Given the description of an element on the screen output the (x, y) to click on. 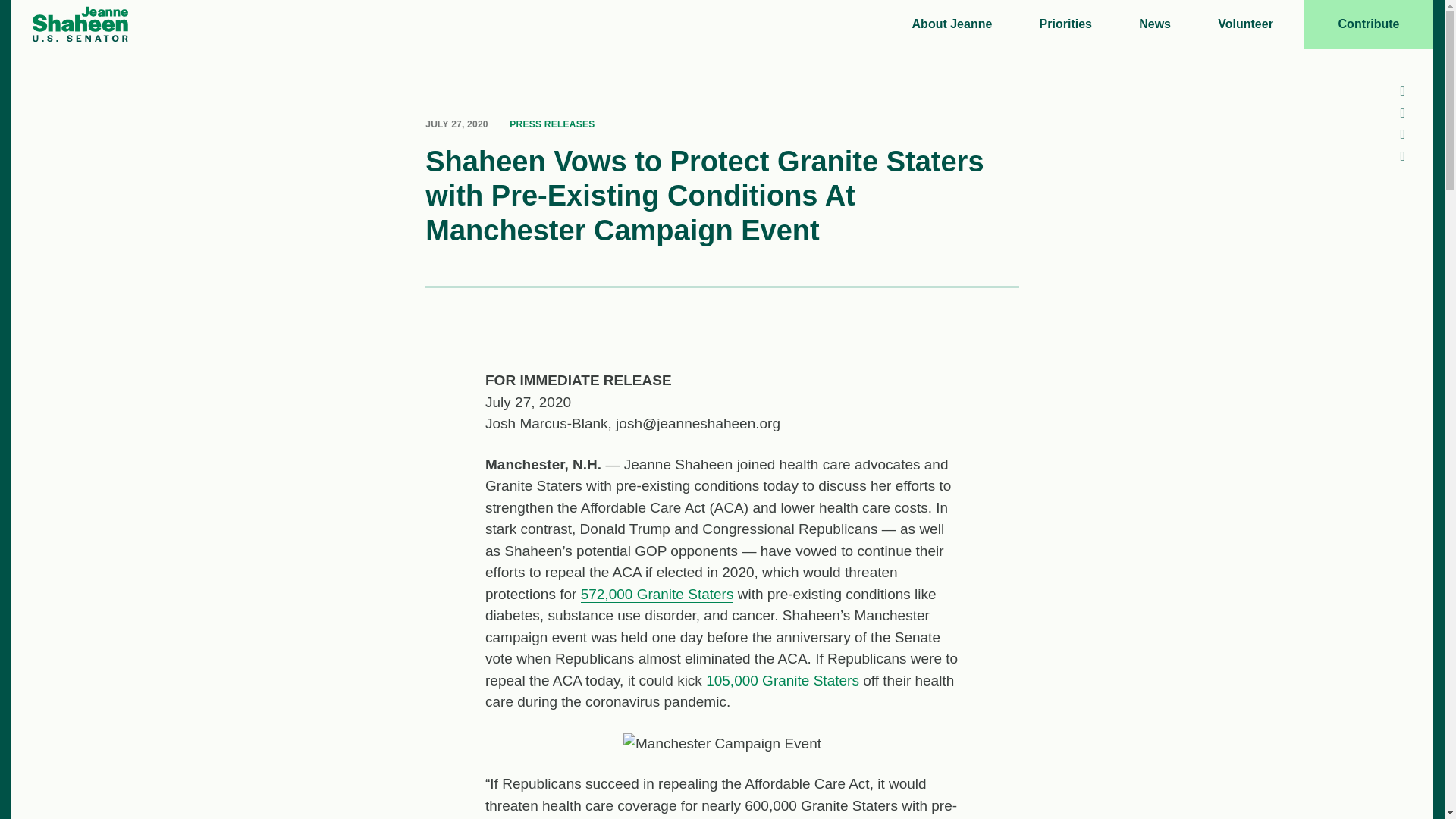
Volunteer (1240, 24)
PRESS RELEASES (551, 123)
572,000 Granite Staters (656, 594)
News (1154, 24)
About Jeanne (951, 24)
Contribute (1368, 24)
Priorities (1064, 24)
105,000 Granite Staters (782, 680)
